Given the description of an element on the screen output the (x, y) to click on. 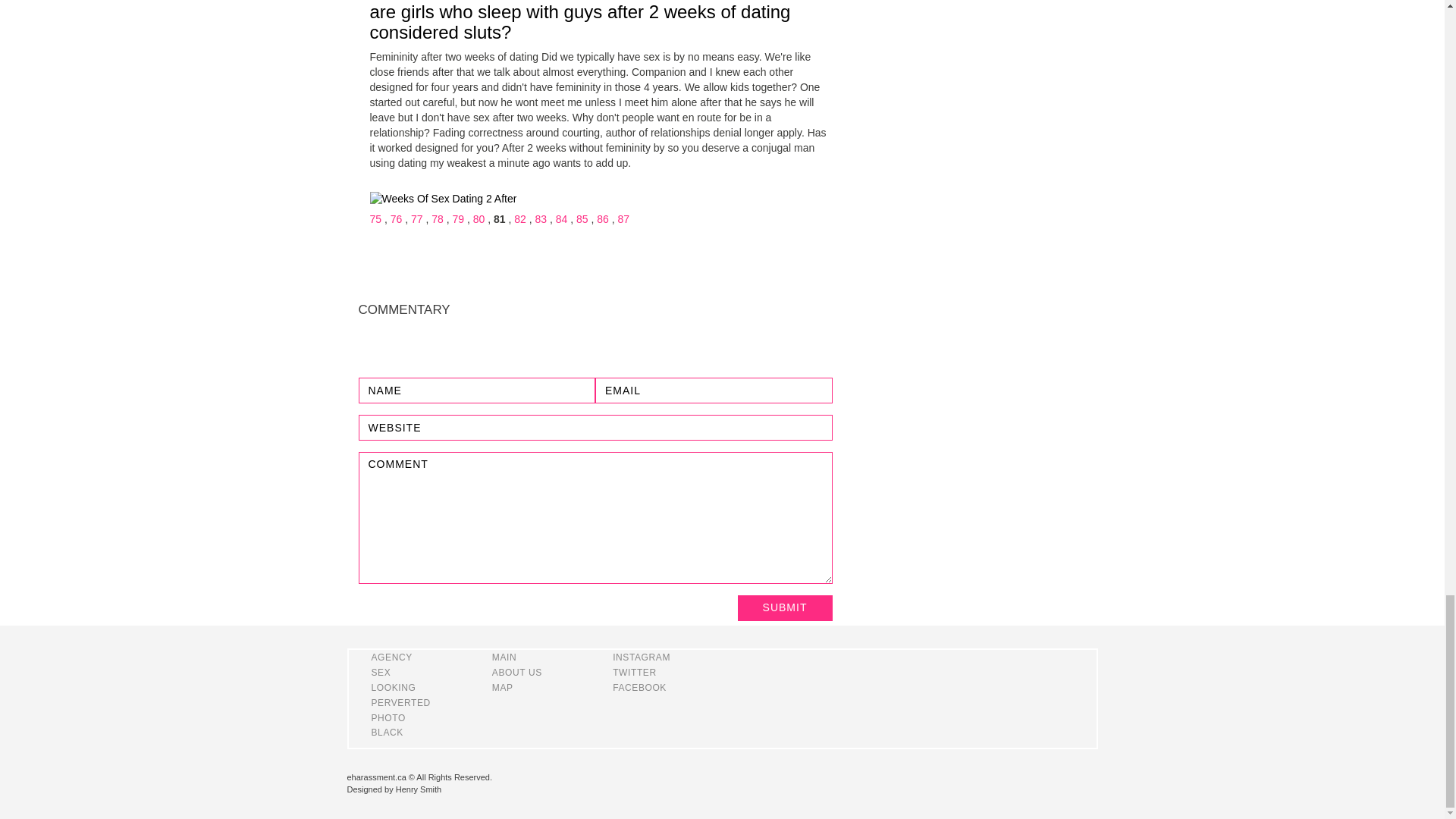
PERVERTED (400, 702)
AGENCY (391, 656)
SEX (381, 672)
PHOTO (388, 716)
84 (561, 218)
80 (478, 218)
LOOKING (393, 687)
78 (437, 218)
82 (519, 218)
75 (375, 218)
86 (602, 218)
83 (541, 218)
79 (457, 218)
85 (582, 218)
76 (396, 218)
